Given the description of an element on the screen output the (x, y) to click on. 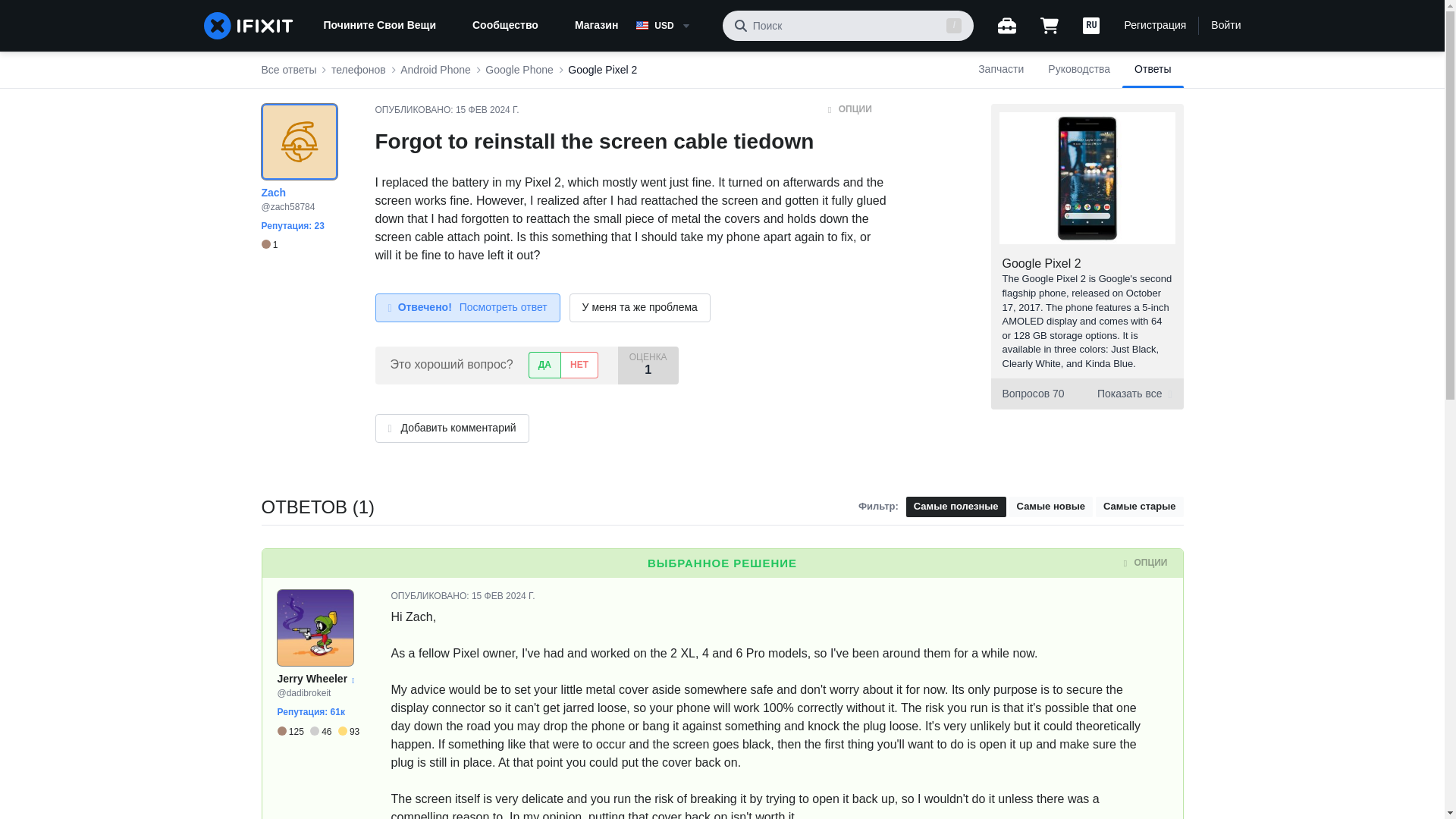
Google Pixel 2 (602, 69)
RU (1091, 25)
Android Phone (435, 69)
Google Phone (518, 69)
1 (269, 245)
USD (673, 25)
Thu, 15 Feb 2024 00:36:35 -0700 (487, 109)
Google Pixel 2 (1042, 263)
Thu, 15 Feb 2024 20:08:37 -0700 (503, 595)
